Given the description of an element on the screen output the (x, y) to click on. 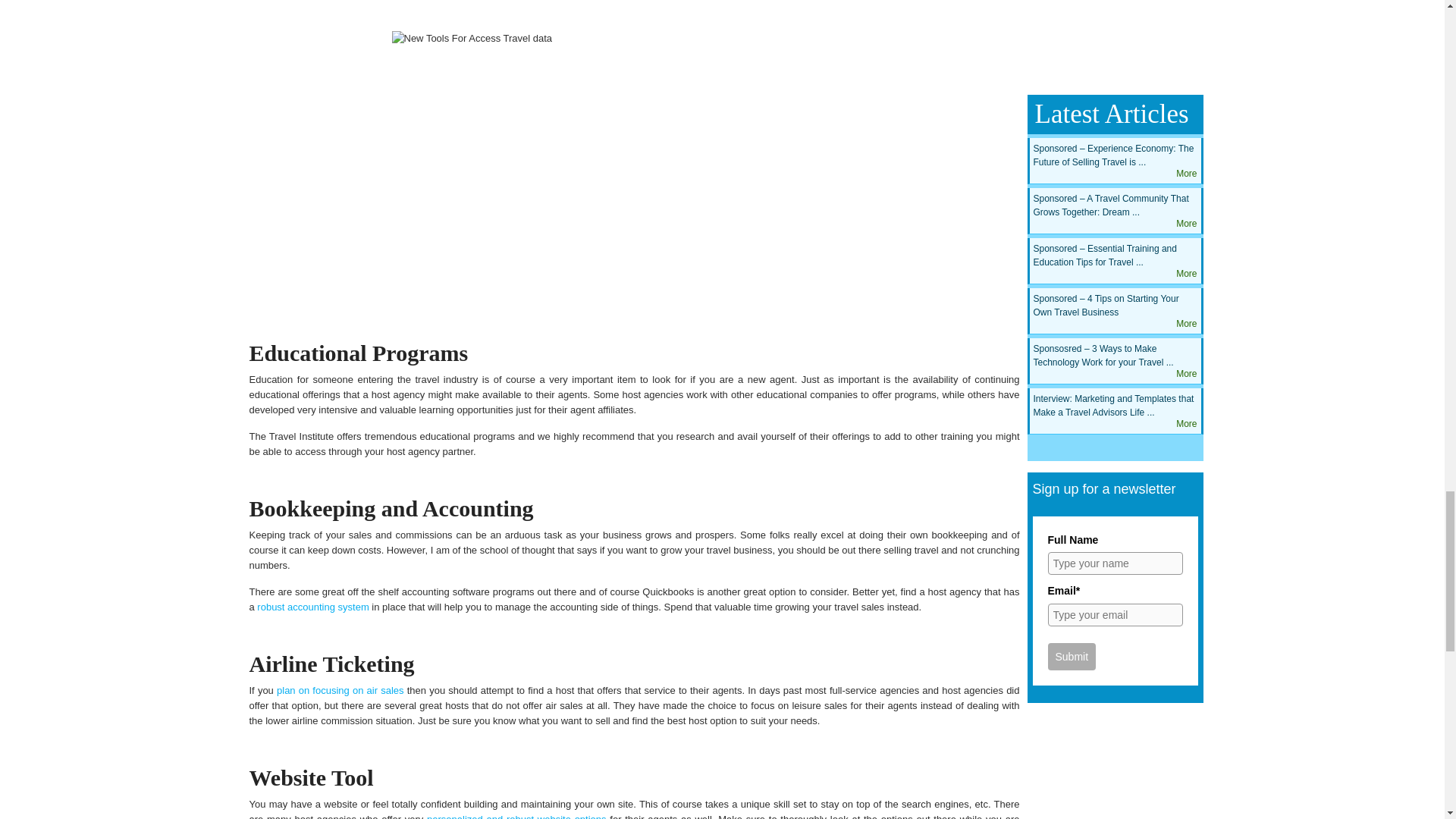
robust accounting system (312, 606)
plan on focusing on air sales (340, 690)
personalized and robust website options (516, 816)
CRM, GDS, Staff Access- FAHTA (633, 167)
